Given the description of an element on the screen output the (x, y) to click on. 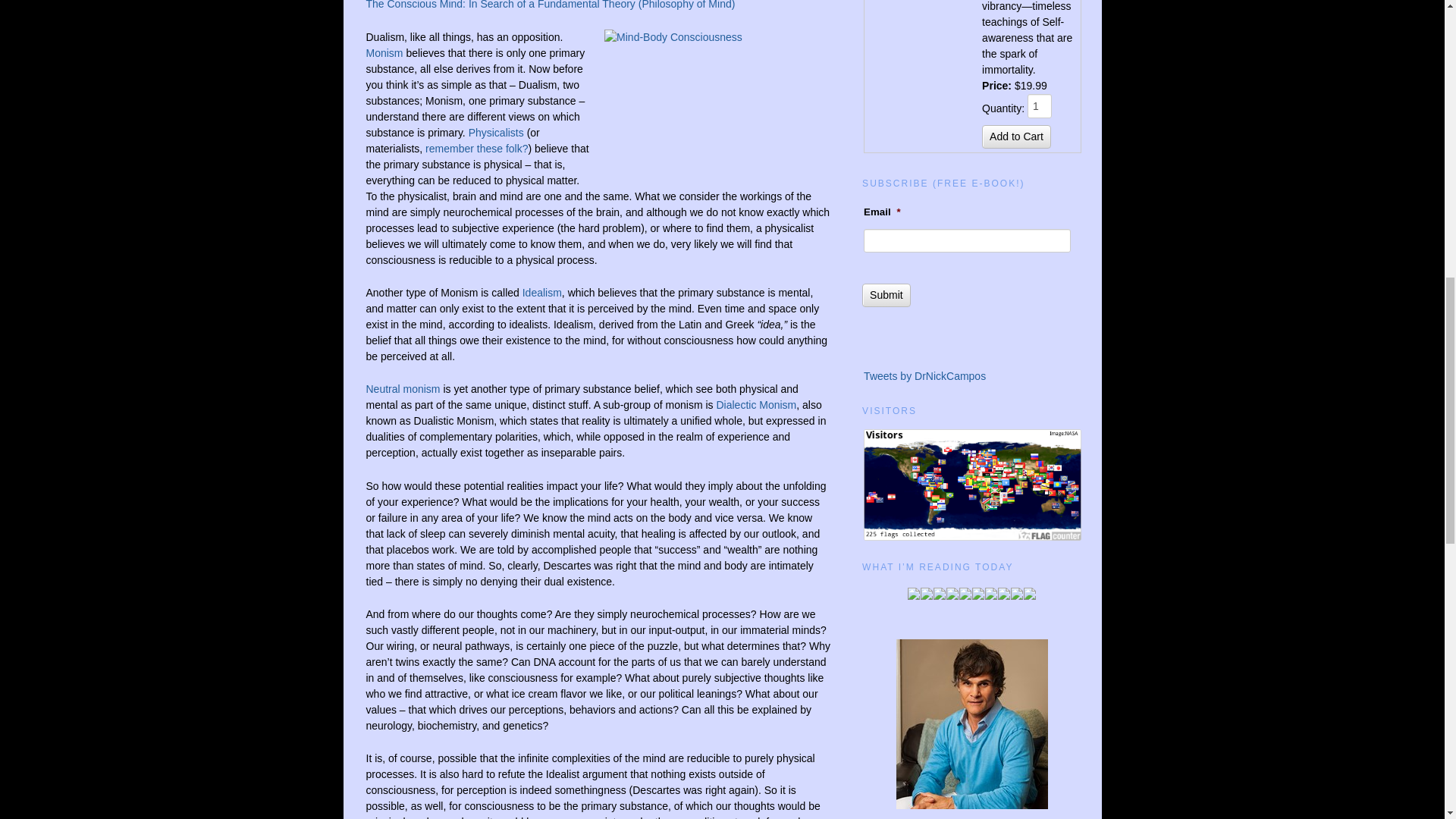
Submit (886, 295)
1 (1039, 105)
Monism (384, 52)
Physicalists (496, 132)
Add to Cart (1016, 136)
